Given the description of an element on the screen output the (x, y) to click on. 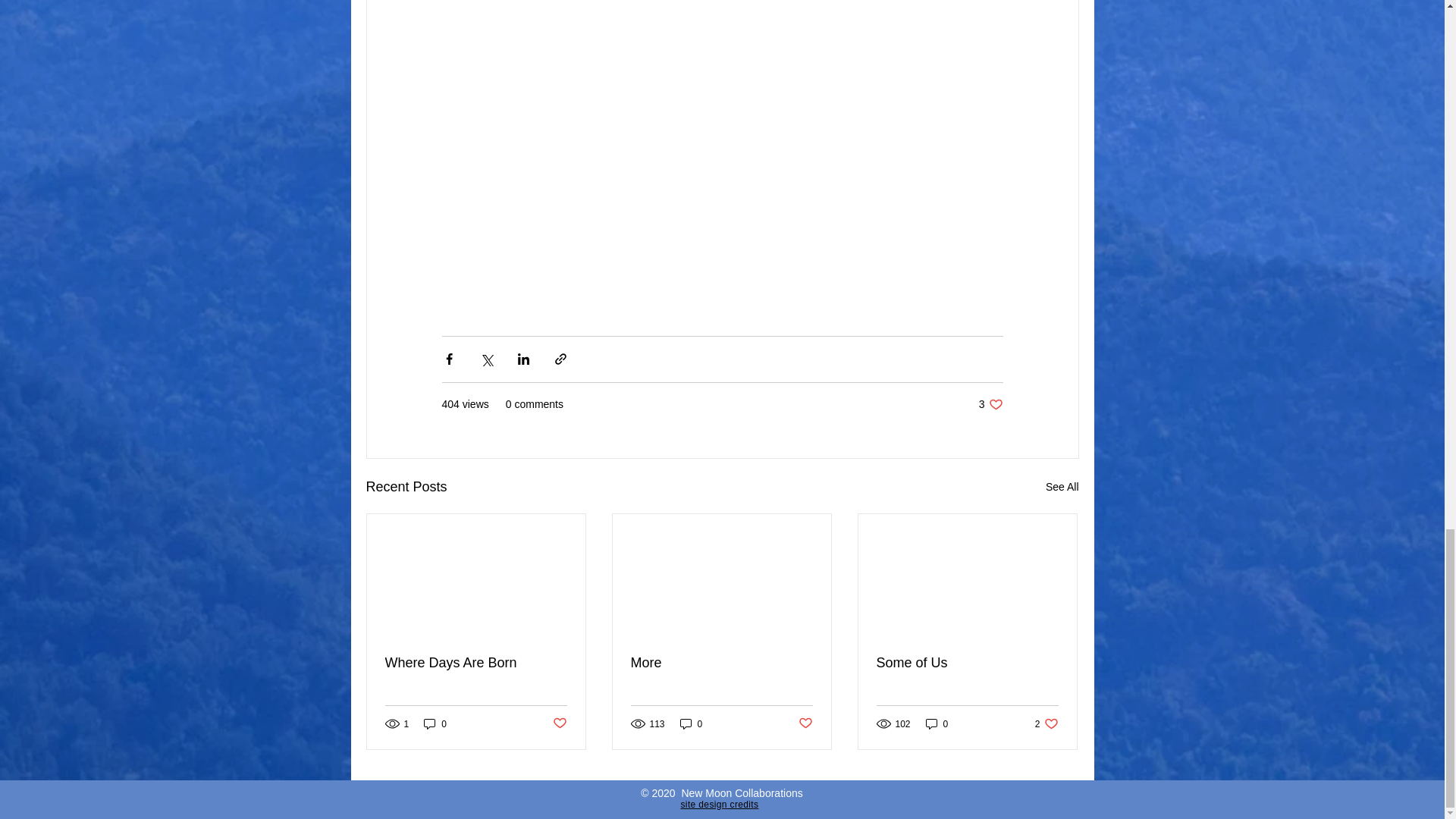
Post not marked as liked (558, 723)
0 (691, 723)
Where Days Are Born (476, 662)
Some of Us (967, 662)
More (721, 662)
0 (990, 404)
0 (435, 723)
site design credits (937, 723)
Post not marked as liked (719, 804)
See All (1046, 723)
